Given the description of an element on the screen output the (x, y) to click on. 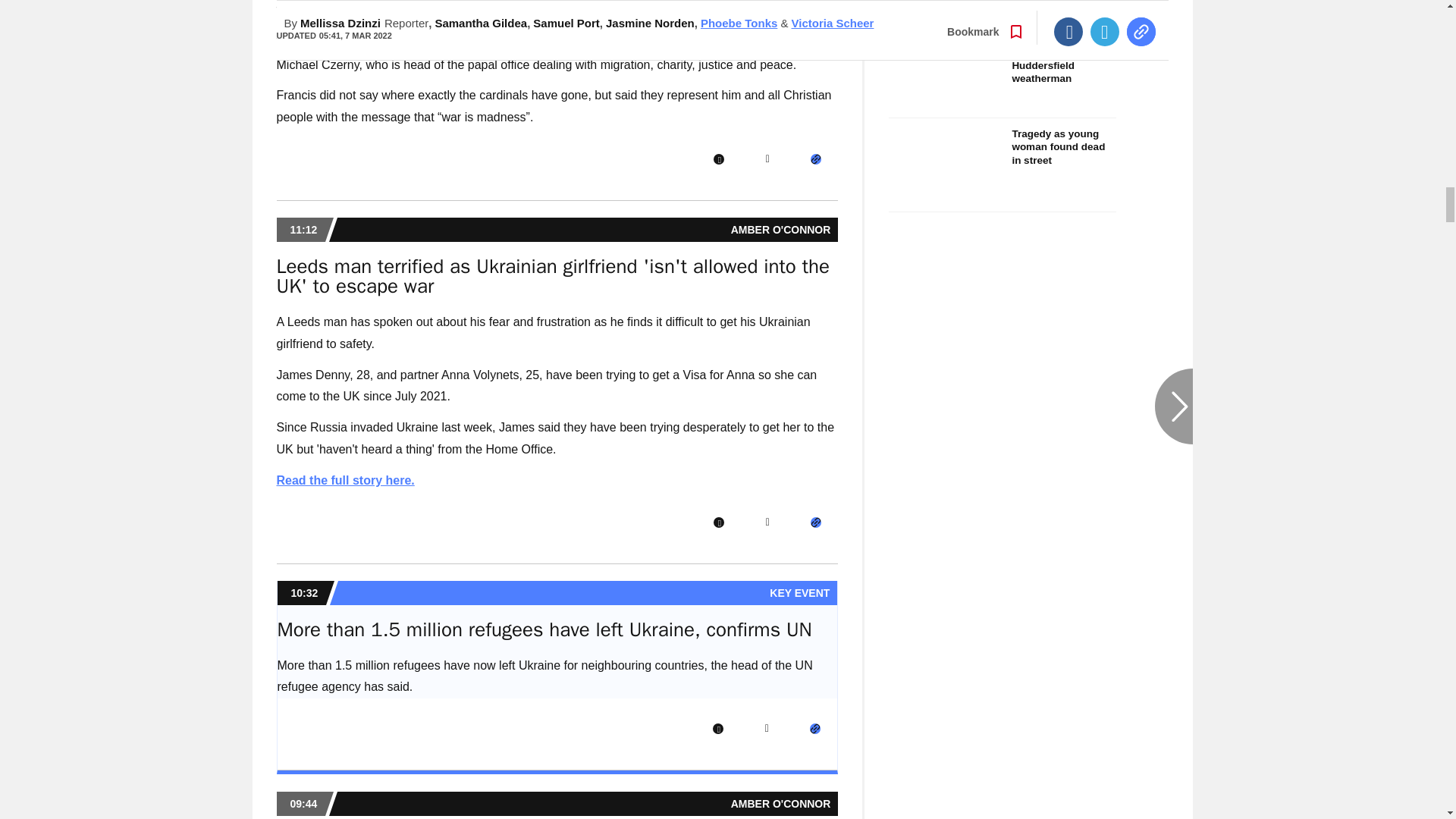
Facebook (718, 521)
Twitter (767, 158)
Facebook (718, 158)
